Given the description of an element on the screen output the (x, y) to click on. 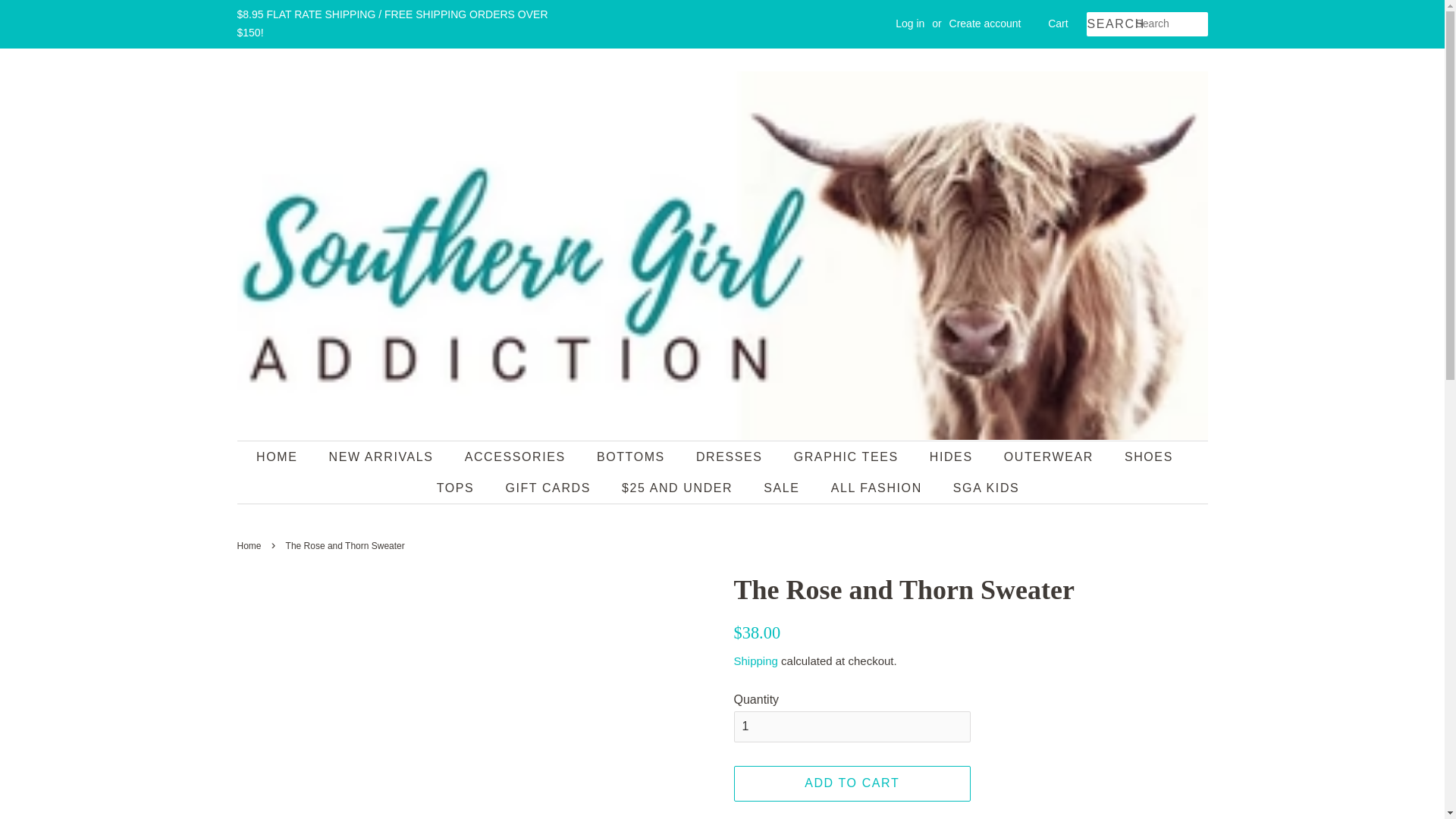
NEW ARRIVALS (382, 456)
Log in (909, 23)
SEARCH (1110, 24)
1 (852, 726)
Create account (985, 23)
Cart (1057, 24)
HOME (284, 456)
DRESSES (730, 456)
ACCESSORIES (516, 456)
Back to the frontpage (249, 545)
